Given the description of an element on the screen output the (x, y) to click on. 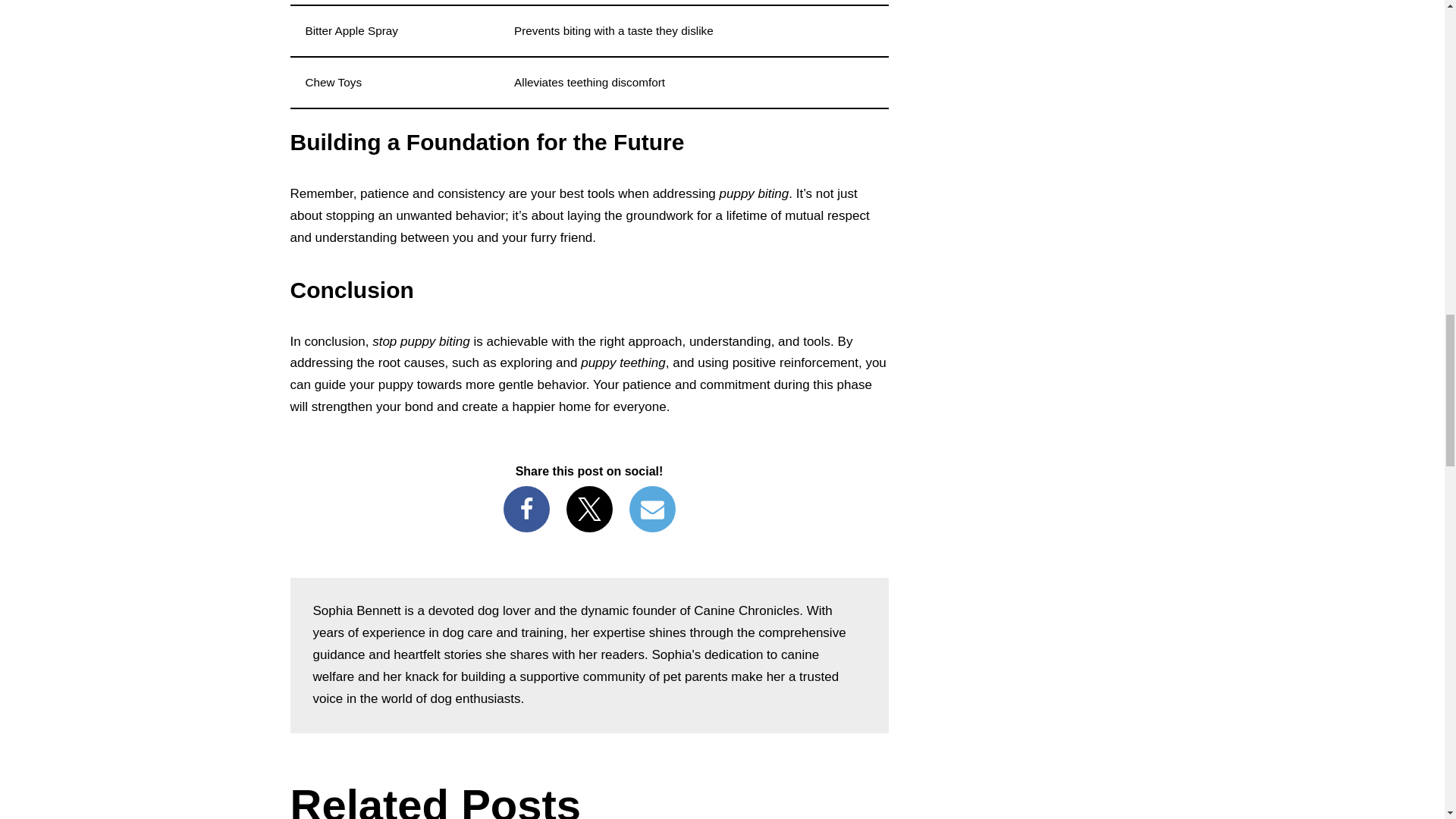
Facebook (526, 509)
X (588, 509)
Email (651, 509)
